Given the description of an element on the screen output the (x, y) to click on. 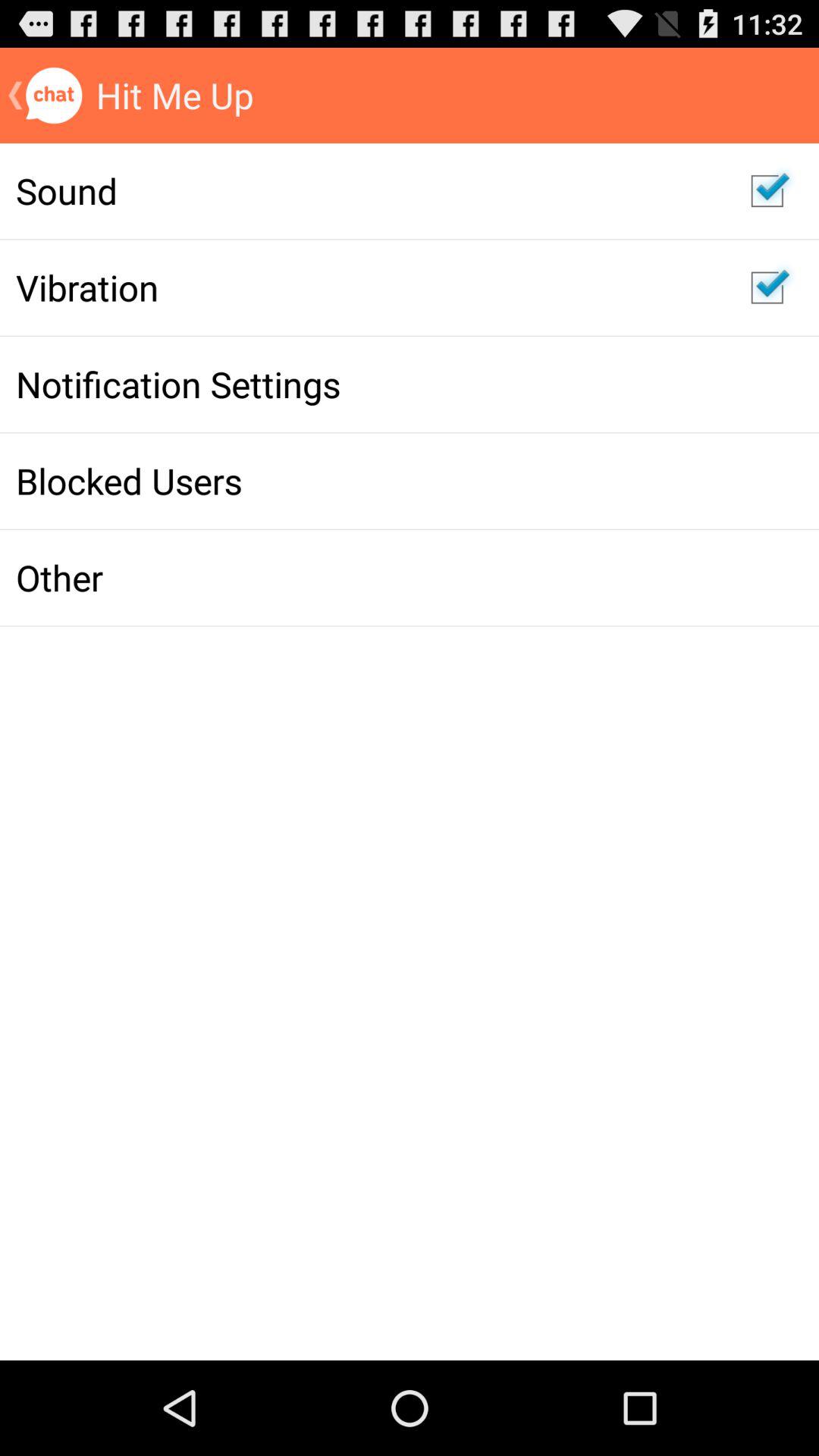
flip until the notification settings (367, 384)
